Given the description of an element on the screen output the (x, y) to click on. 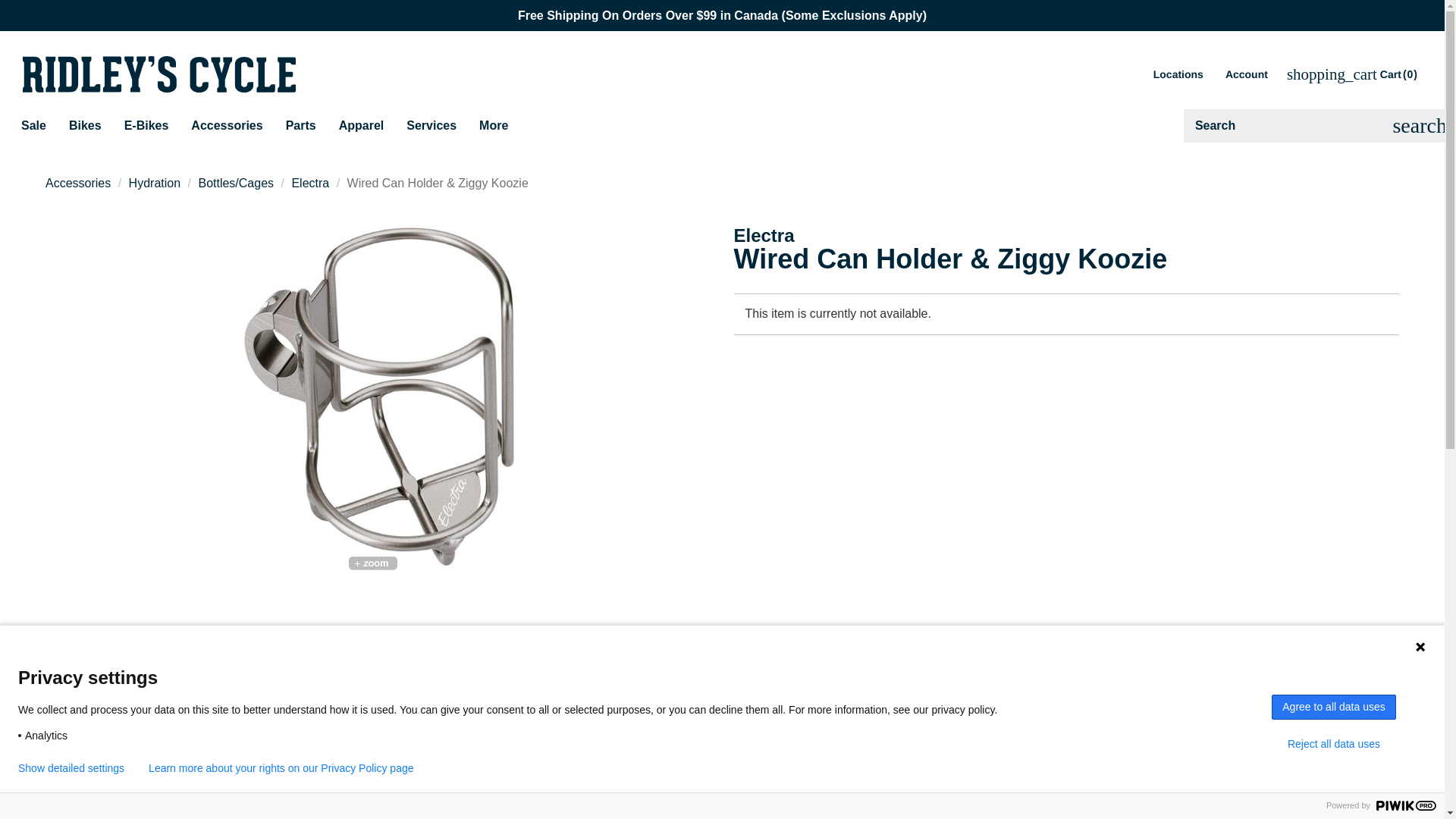
Stores (1177, 73)
Locations (1177, 73)
Ridley's Cycle Home Page (159, 74)
Piwik PRO (1405, 805)
Search (1291, 125)
Account (1245, 73)
Bikes (85, 125)
Sale (33, 125)
Account (1245, 73)
Cart (1352, 73)
Search (1419, 125)
